Given the description of an element on the screen output the (x, y) to click on. 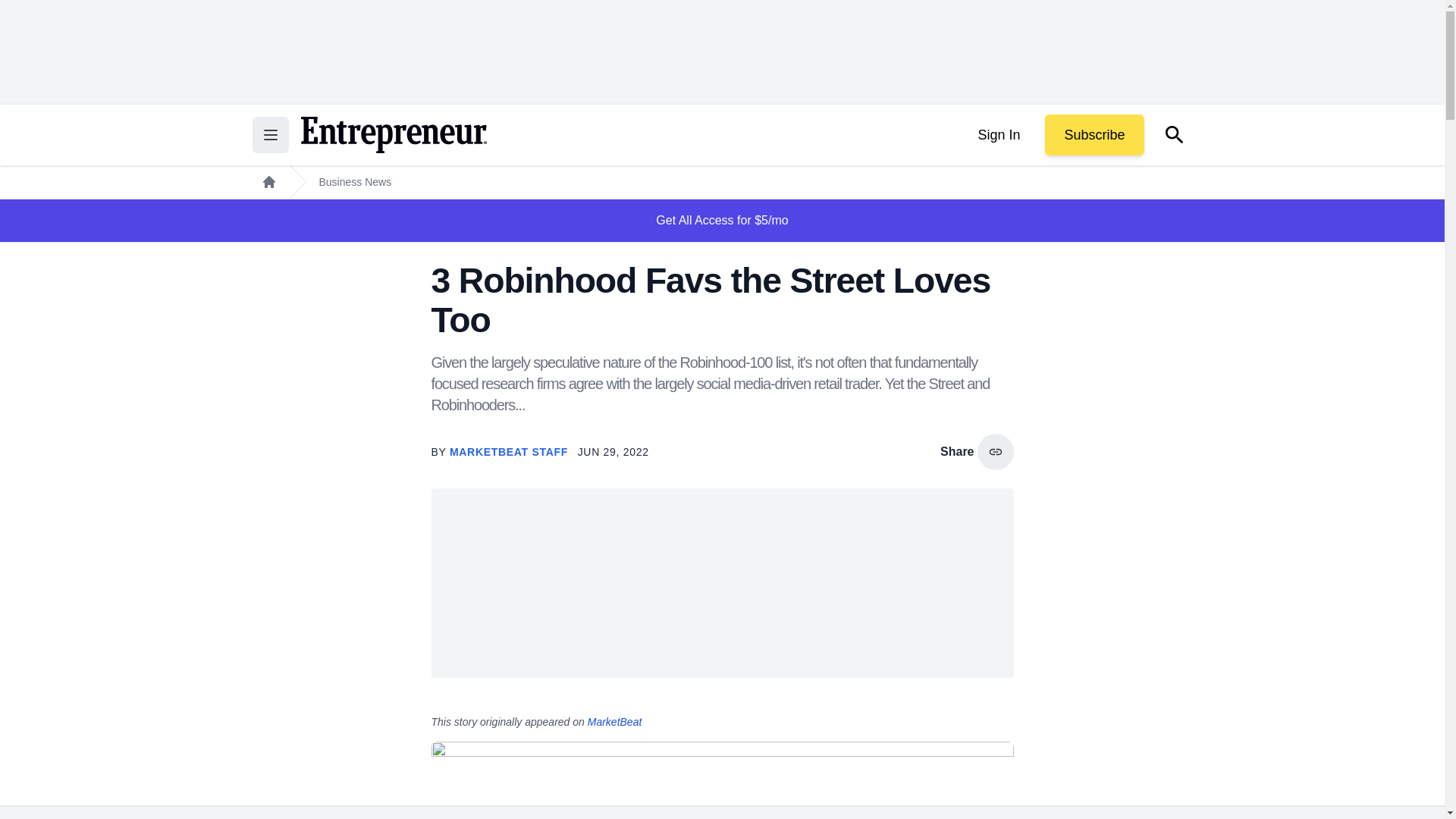
Return to the home page (392, 135)
Sign In (998, 134)
Subscribe (1093, 134)
copy (994, 452)
